Given the description of an element on the screen output the (x, y) to click on. 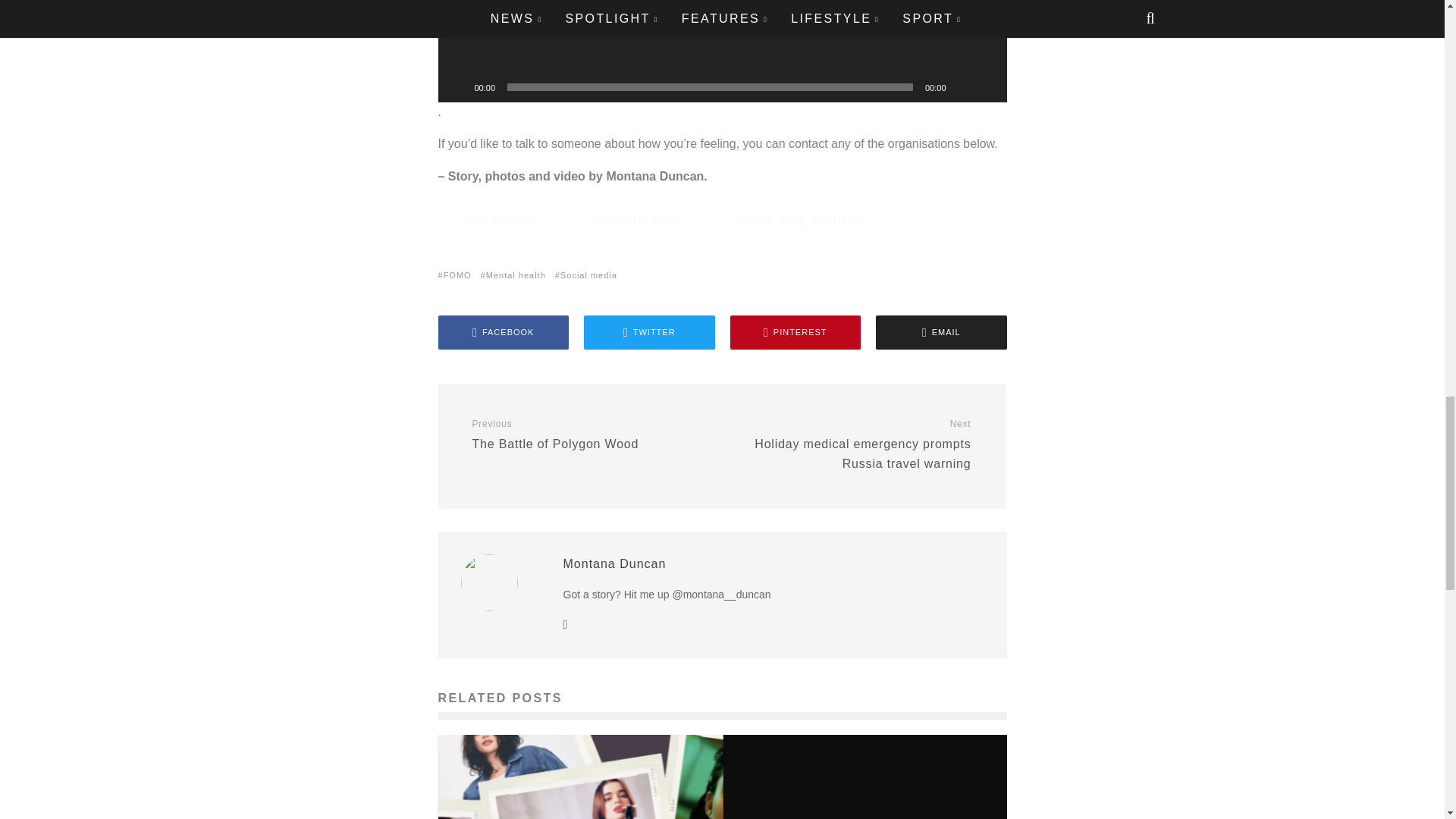
Mute (963, 87)
Fullscreen (986, 87)
Play (457, 87)
